Given the description of an element on the screen output the (x, y) to click on. 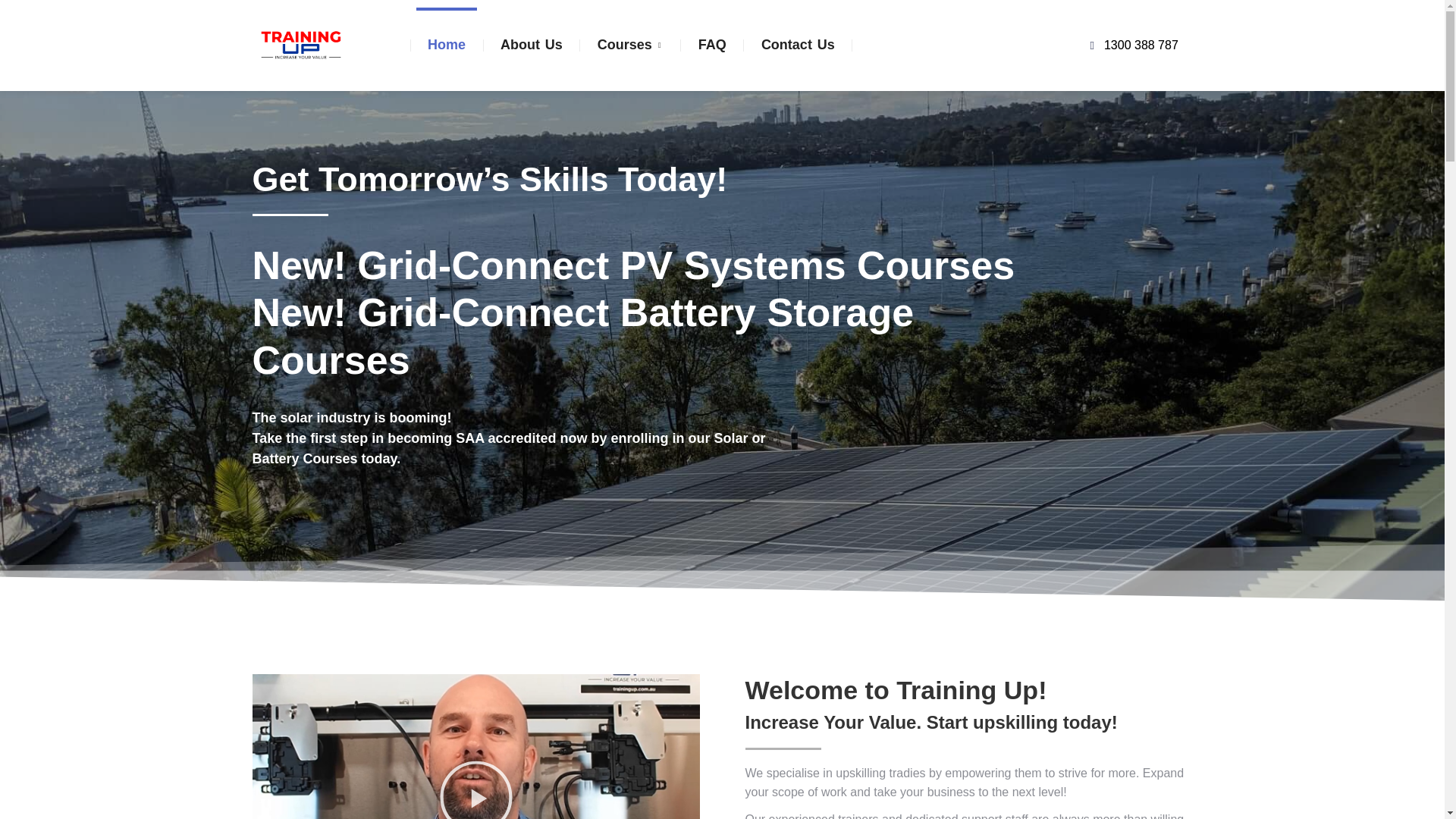
About Us (531, 45)
Contact Us (797, 45)
Courses (630, 45)
1300 388 787 (1056, 45)
